Given the description of an element on the screen output the (x, y) to click on. 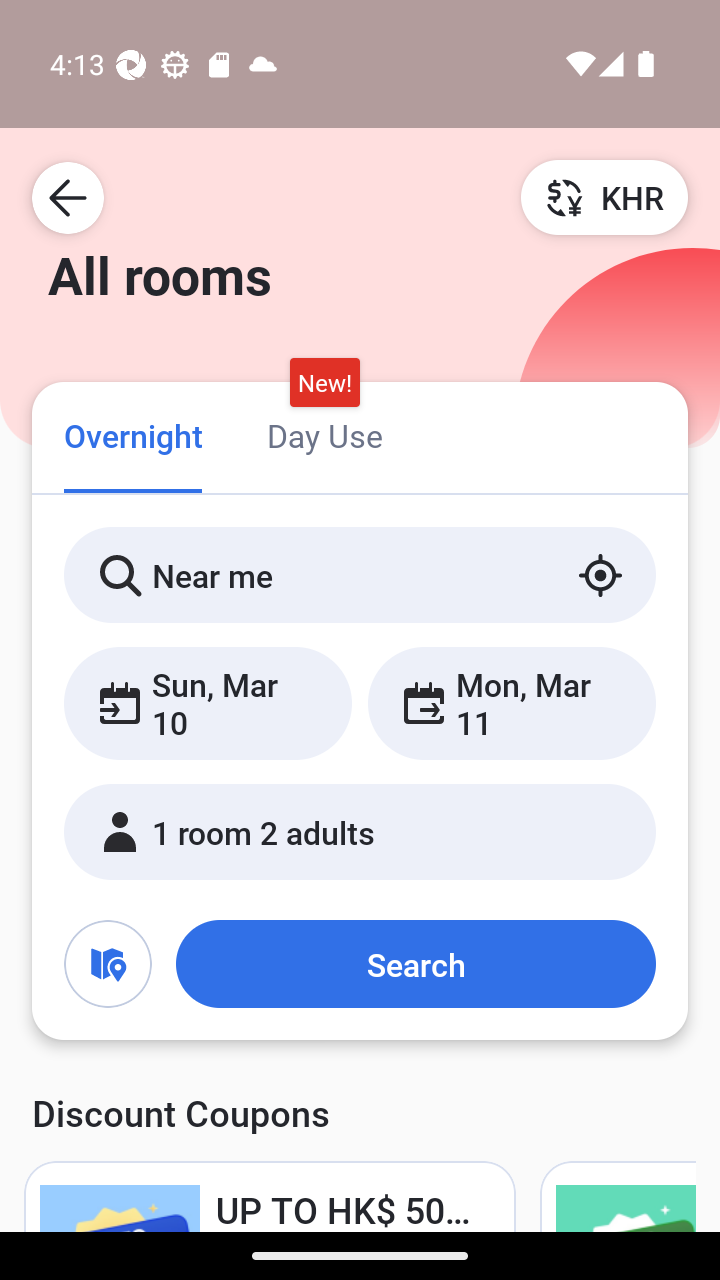
KHR (604, 197)
New! (324, 383)
Day Use (324, 434)
Near me (359, 575)
Sun, Mar 10 (208, 703)
Mon, Mar 11 (511, 703)
1 room 2 adults (359, 831)
Search (415, 964)
